Given the description of an element on the screen output the (x, y) to click on. 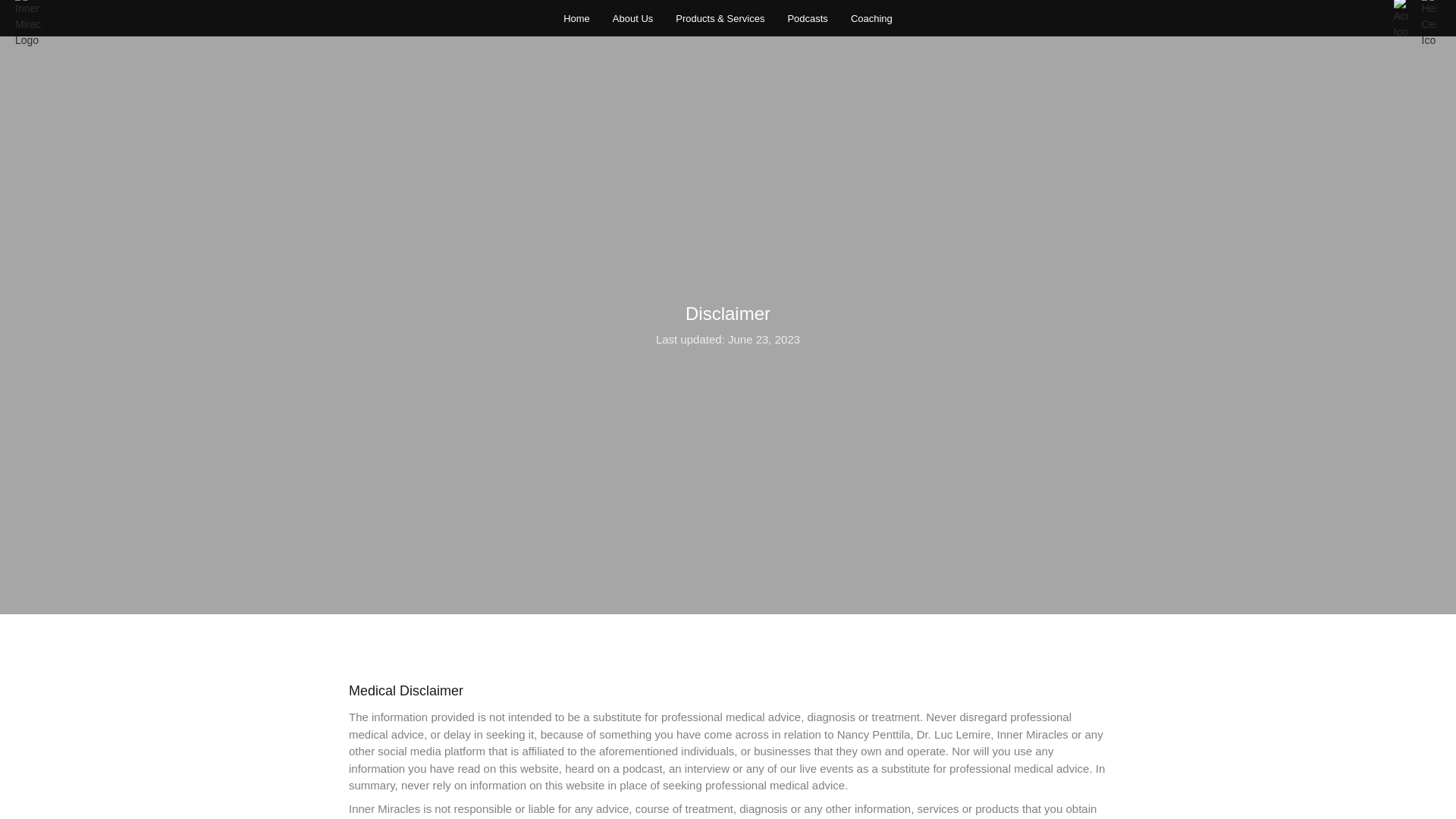
About Us (632, 18)
Coaching (871, 18)
Home (576, 18)
Podcasts (807, 18)
